Given the description of an element on the screen output the (x, y) to click on. 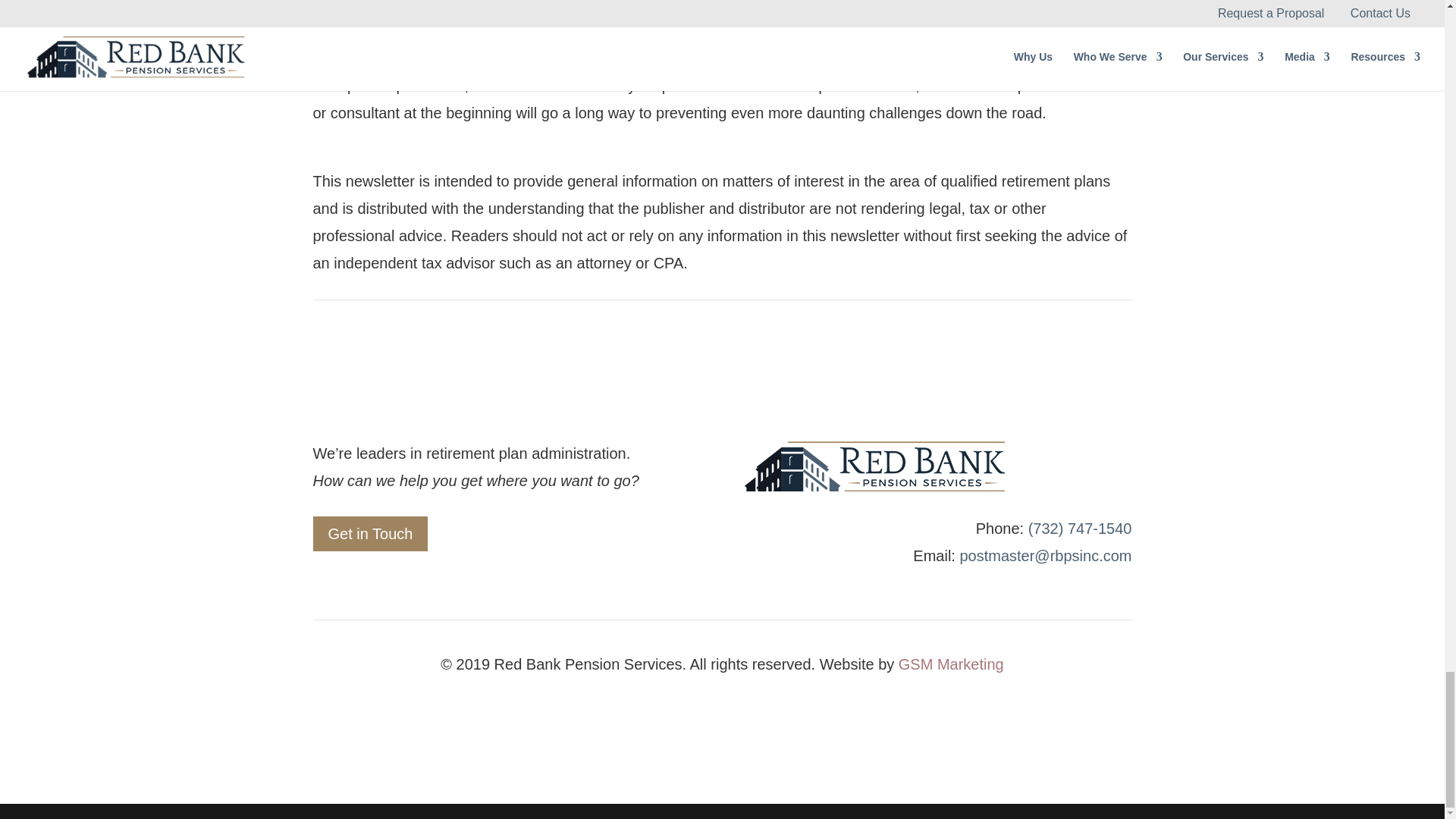
GSM Marketing (951, 664)
GSM Marketing (951, 664)
Get in Touch (370, 533)
